Given the description of an element on the screen output the (x, y) to click on. 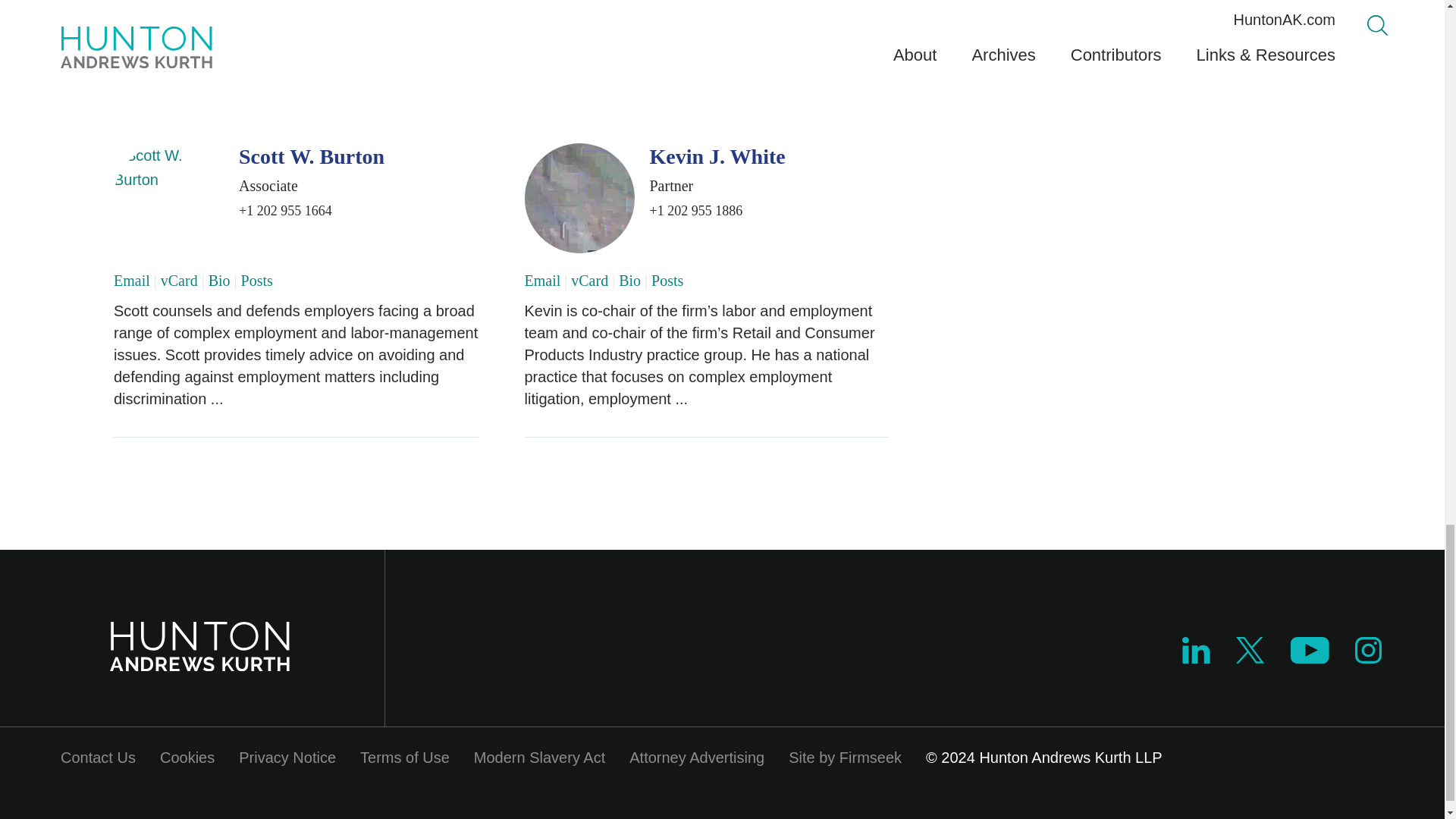
Linkedin (863, 80)
Facebook (882, 80)
Instagram (1369, 658)
Email (818, 79)
Print (788, 80)
Print (791, 79)
vCard (179, 280)
Email (131, 280)
Linkedin (1195, 650)
Enforcement (352, 42)
Youtube (1309, 650)
Linkedin (1195, 658)
machine learning (439, 42)
AI (151, 42)
Posts (257, 280)
